Given the description of an element on the screen output the (x, y) to click on. 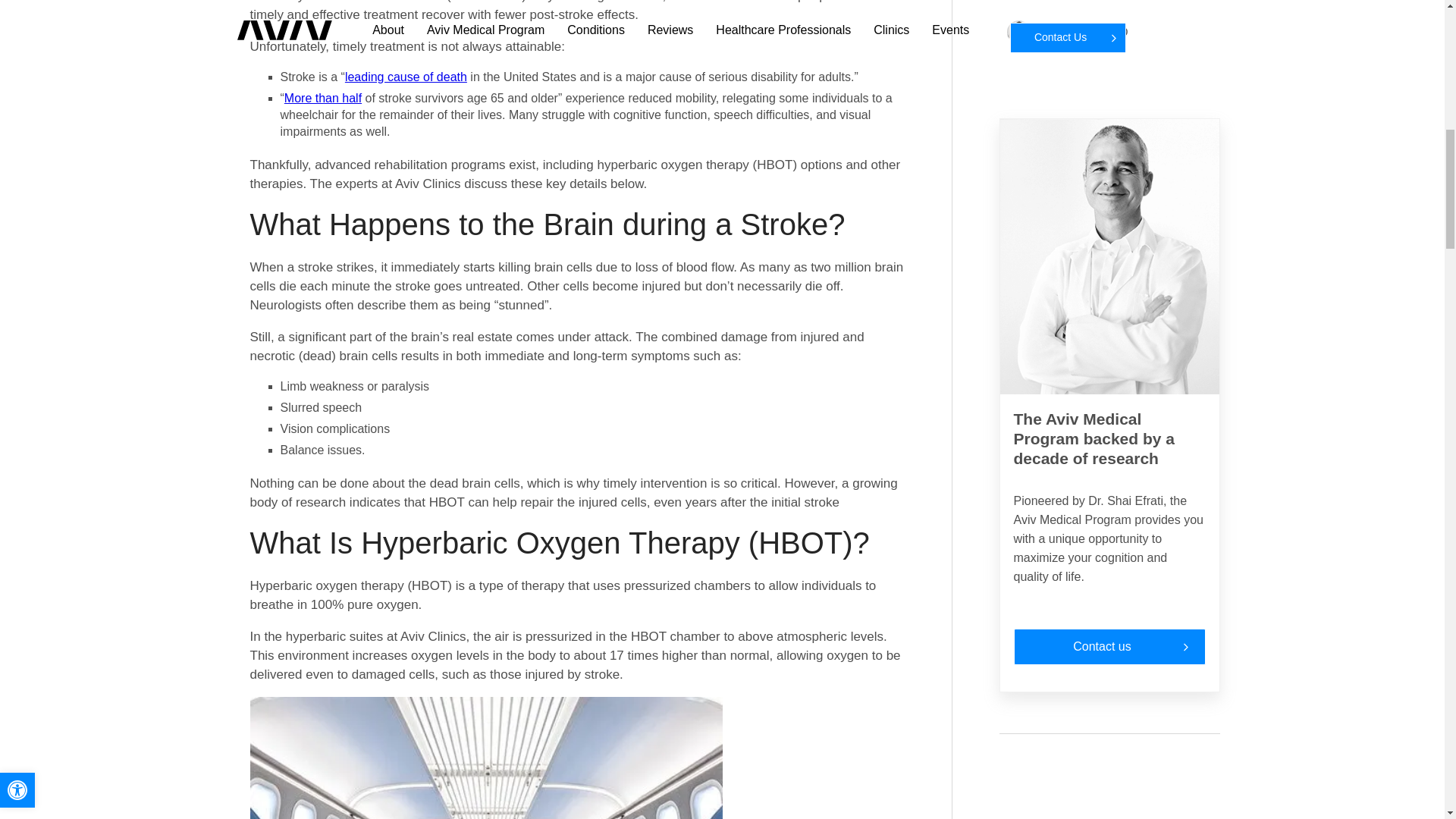
Contact us (1109, 646)
